Given the description of an element on the screen output the (x, y) to click on. 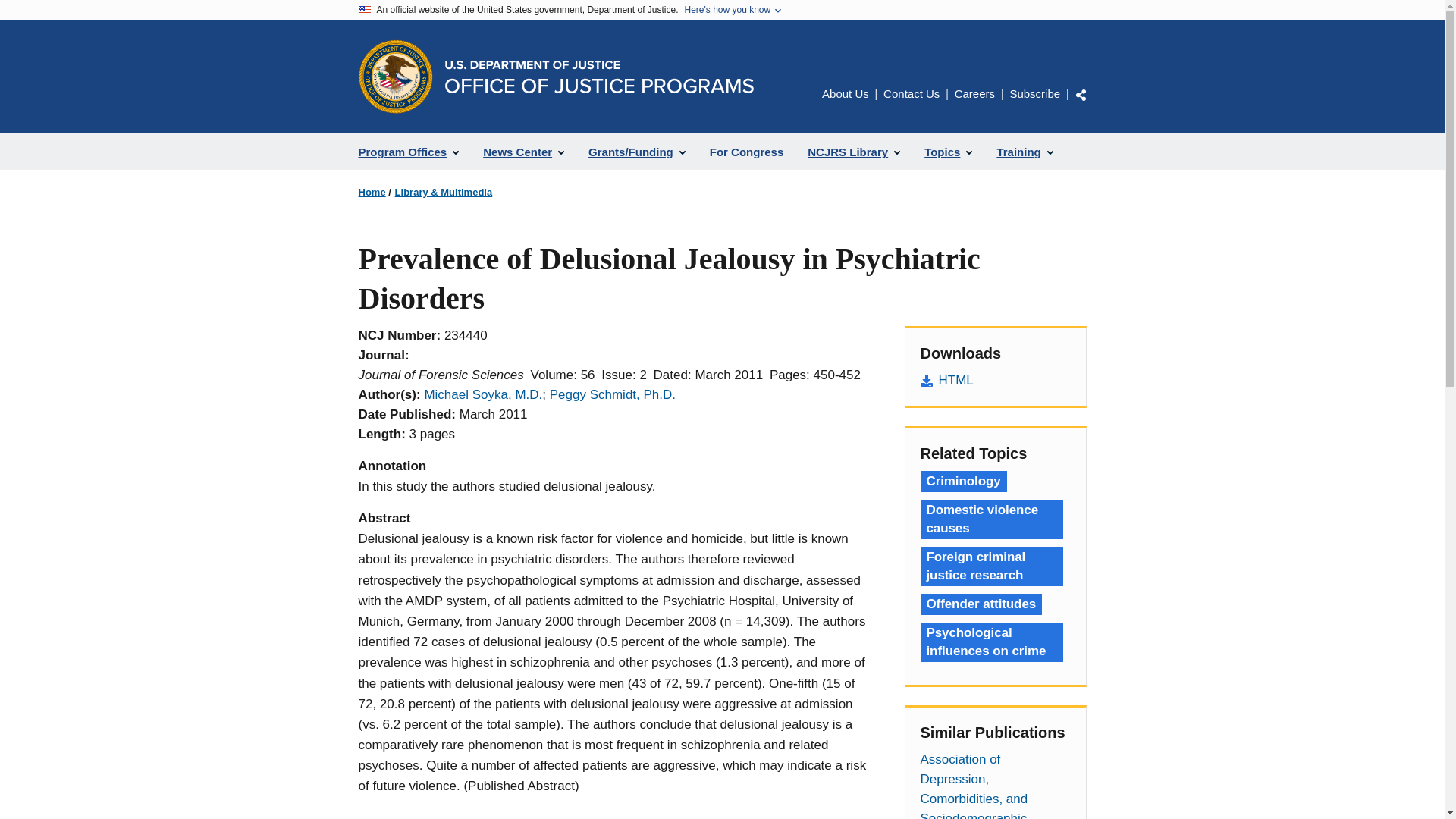
Michael Soyka, M.D. (482, 394)
About Us (845, 93)
Office of Justice Programs (395, 76)
Training (1024, 151)
News Center (523, 151)
Criminology (963, 481)
HTML (995, 380)
Share (1080, 94)
Foreign criminal justice research (991, 566)
Careers (974, 93)
